Given the description of an element on the screen output the (x, y) to click on. 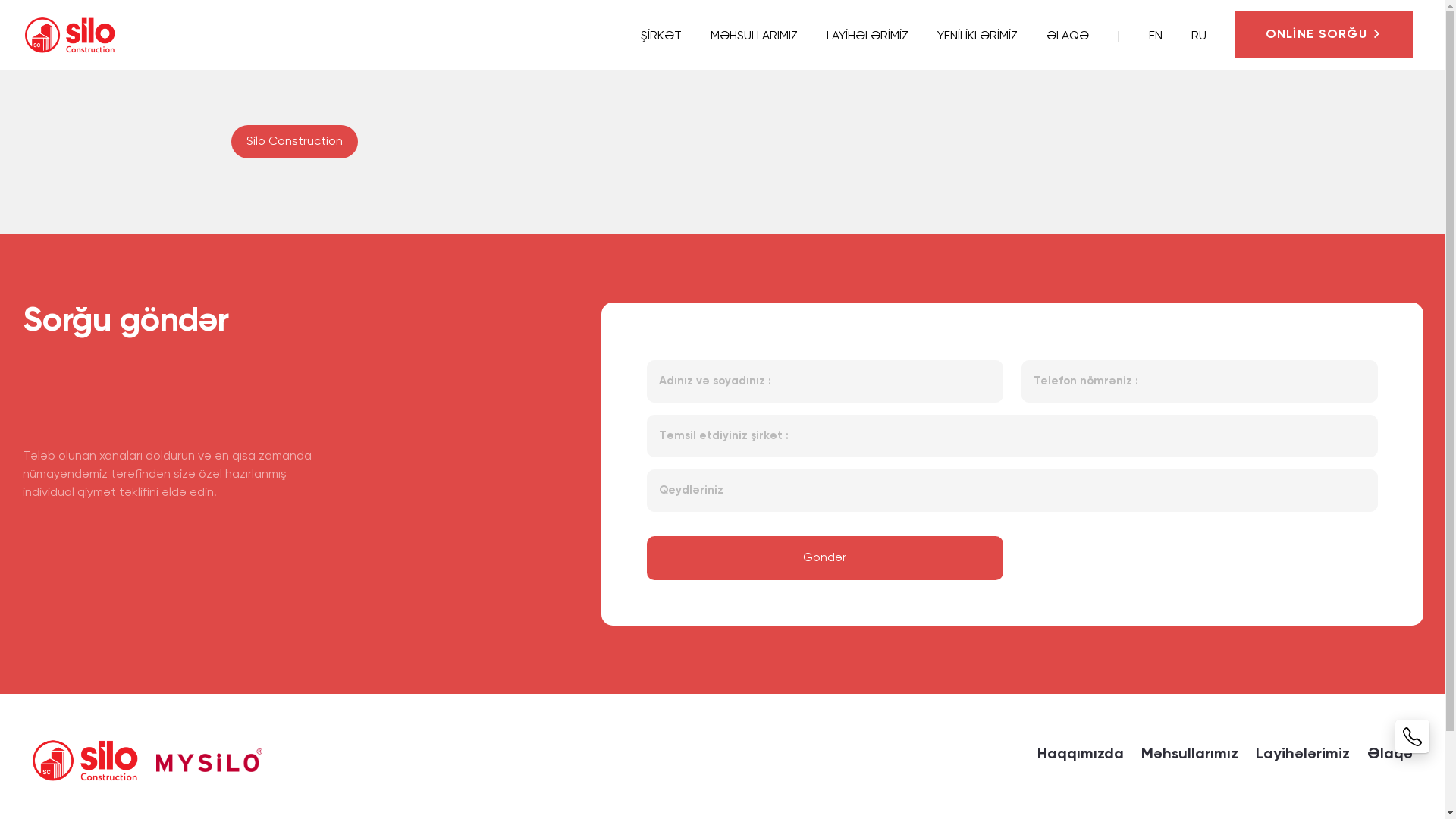
Silo Construction Element type: text (293, 141)
RU Element type: text (1190, 36)
EN Element type: text (1147, 36)
